Given the description of an element on the screen output the (x, y) to click on. 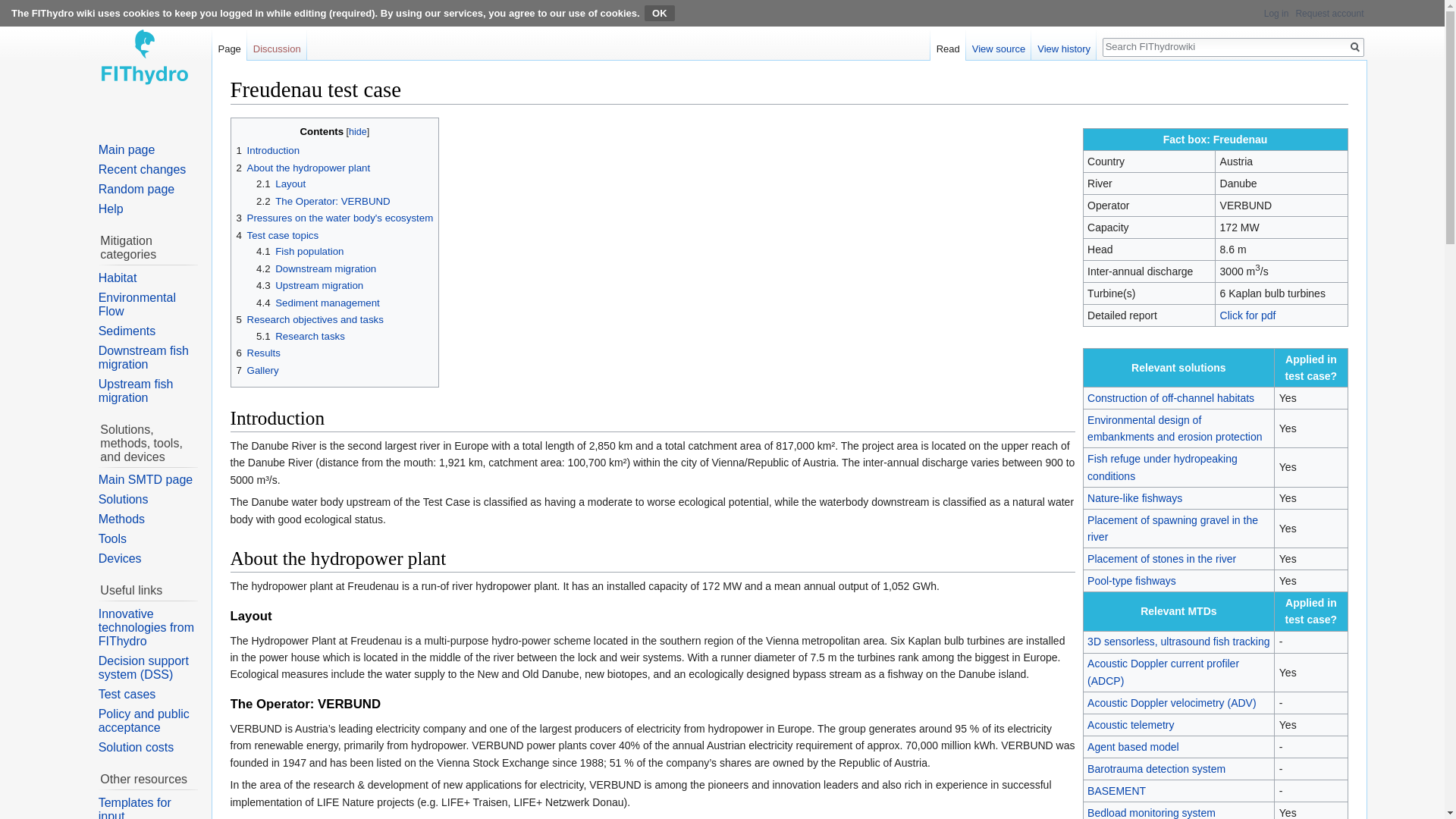
3D sensorless, ultrasound fish tracking (1178, 641)
3D sensorless, ultrasound fish tracking (1178, 641)
Nature-like fishways (1134, 498)
Nature-like fishways (1134, 498)
Fish refuge under hydropeaking conditions (1162, 466)
1 Introduction (267, 150)
Acoustic telemetry (1130, 725)
Pool-type fishways (1131, 580)
File:Testcase presentation Freudenau.pdf (1248, 315)
Agent based model (1133, 746)
